Given the description of an element on the screen output the (x, y) to click on. 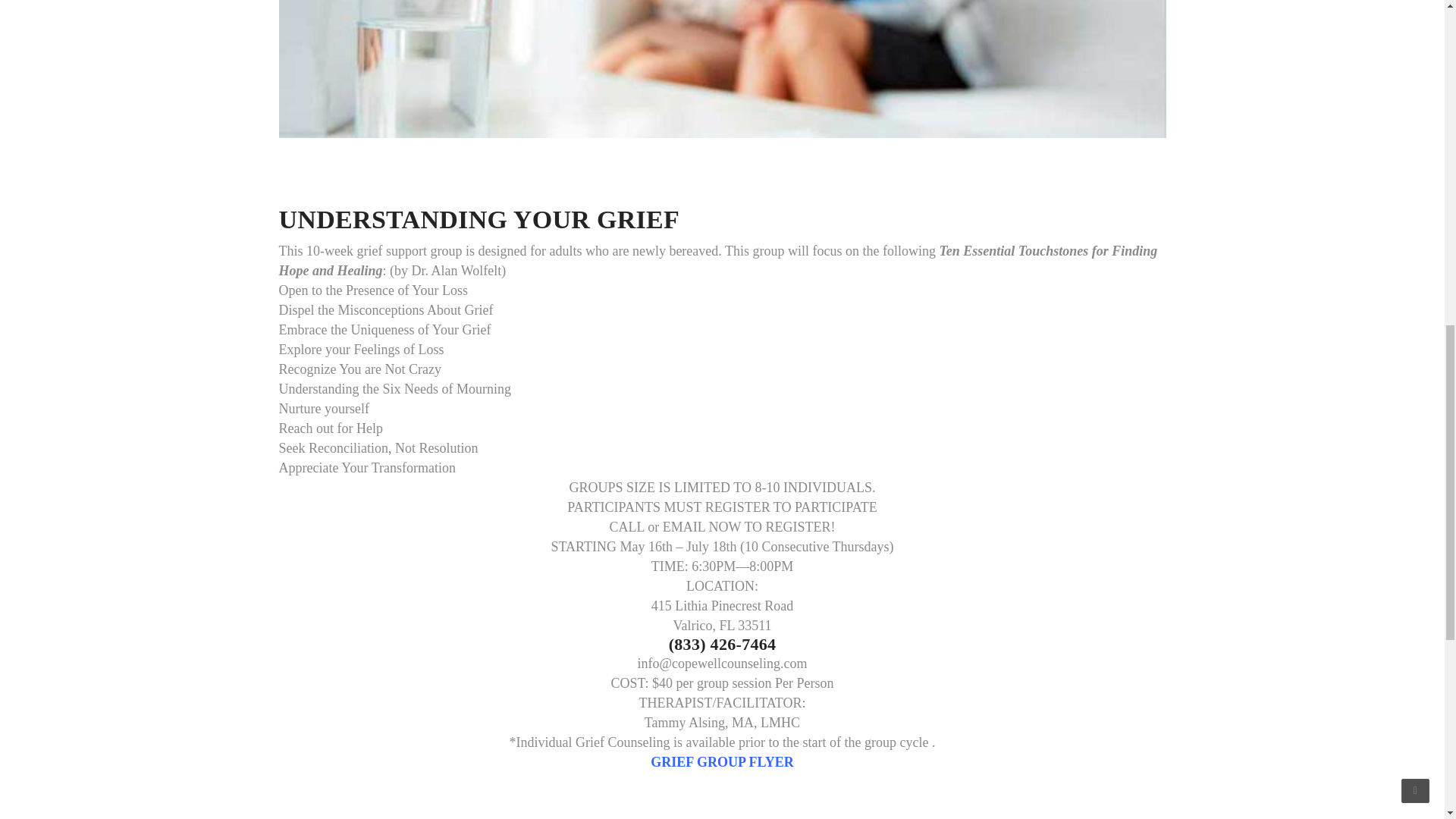
GRIEF GROUP FLYER (721, 761)
